Given the description of an element on the screen output the (x, y) to click on. 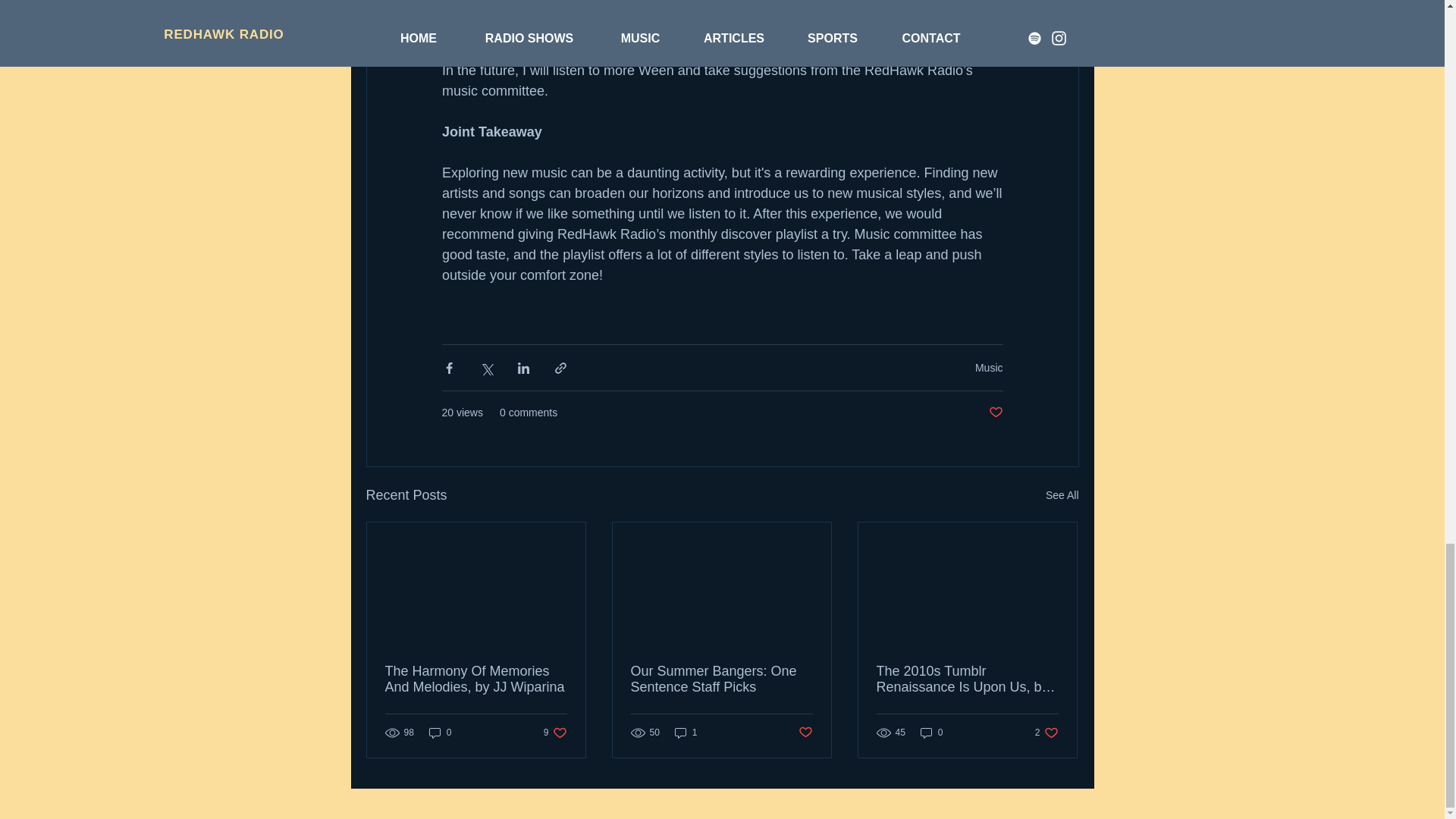
Music (989, 367)
The Harmony Of Memories And Melodies, by JJ Wiparina (476, 679)
0 (440, 731)
See All (1061, 495)
Post not marked as liked (995, 412)
